Given the description of an element on the screen output the (x, y) to click on. 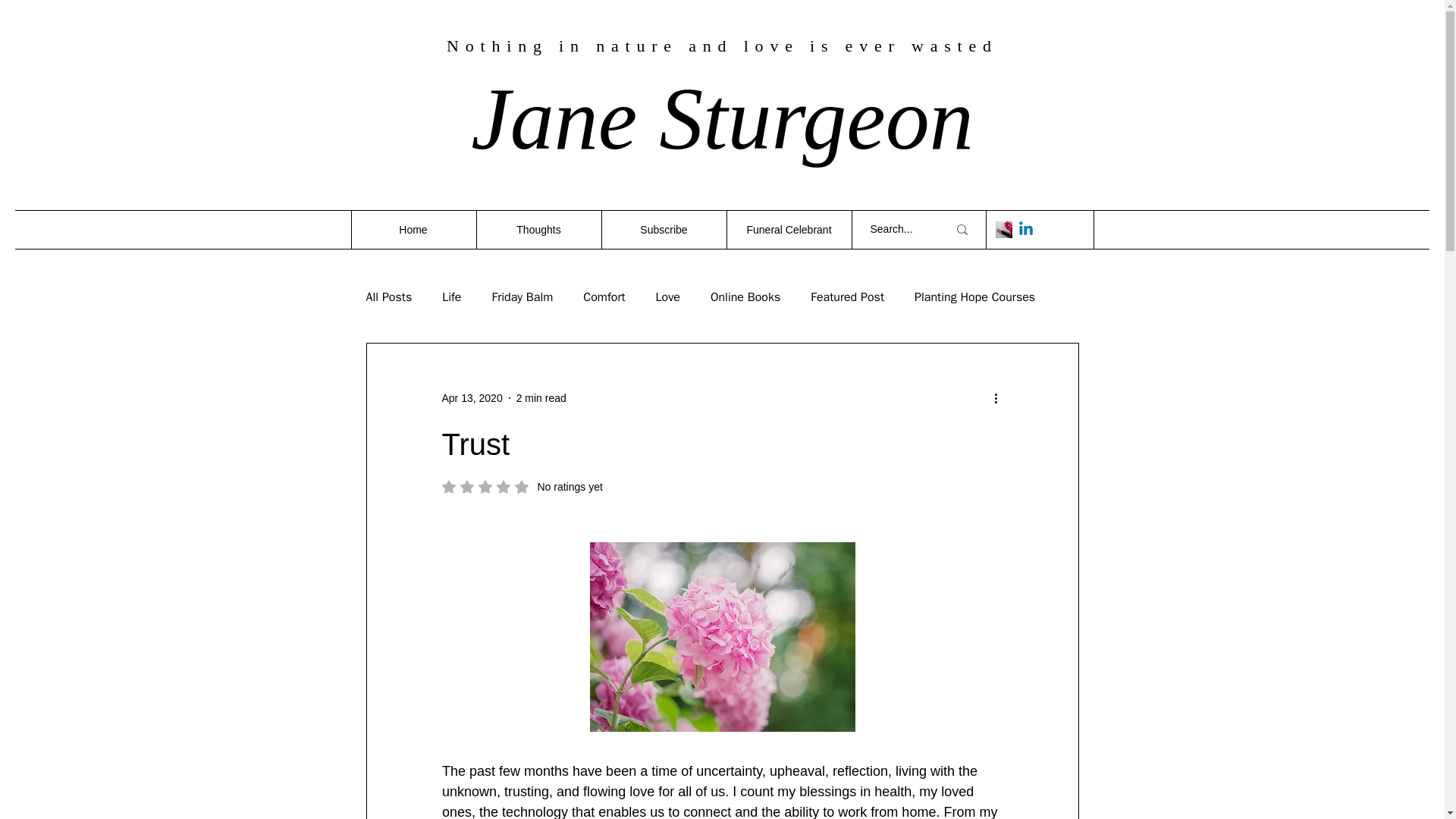
Jane Sturgeon (722, 118)
All Posts (388, 297)
Life (451, 297)
Featured Post (846, 297)
Comfort (603, 297)
Apr 13, 2020 (471, 397)
Thoughts (538, 229)
2 min read (541, 397)
Funeral Celebrant (788, 229)
Subscribe (662, 229)
